Given the description of an element on the screen output the (x, y) to click on. 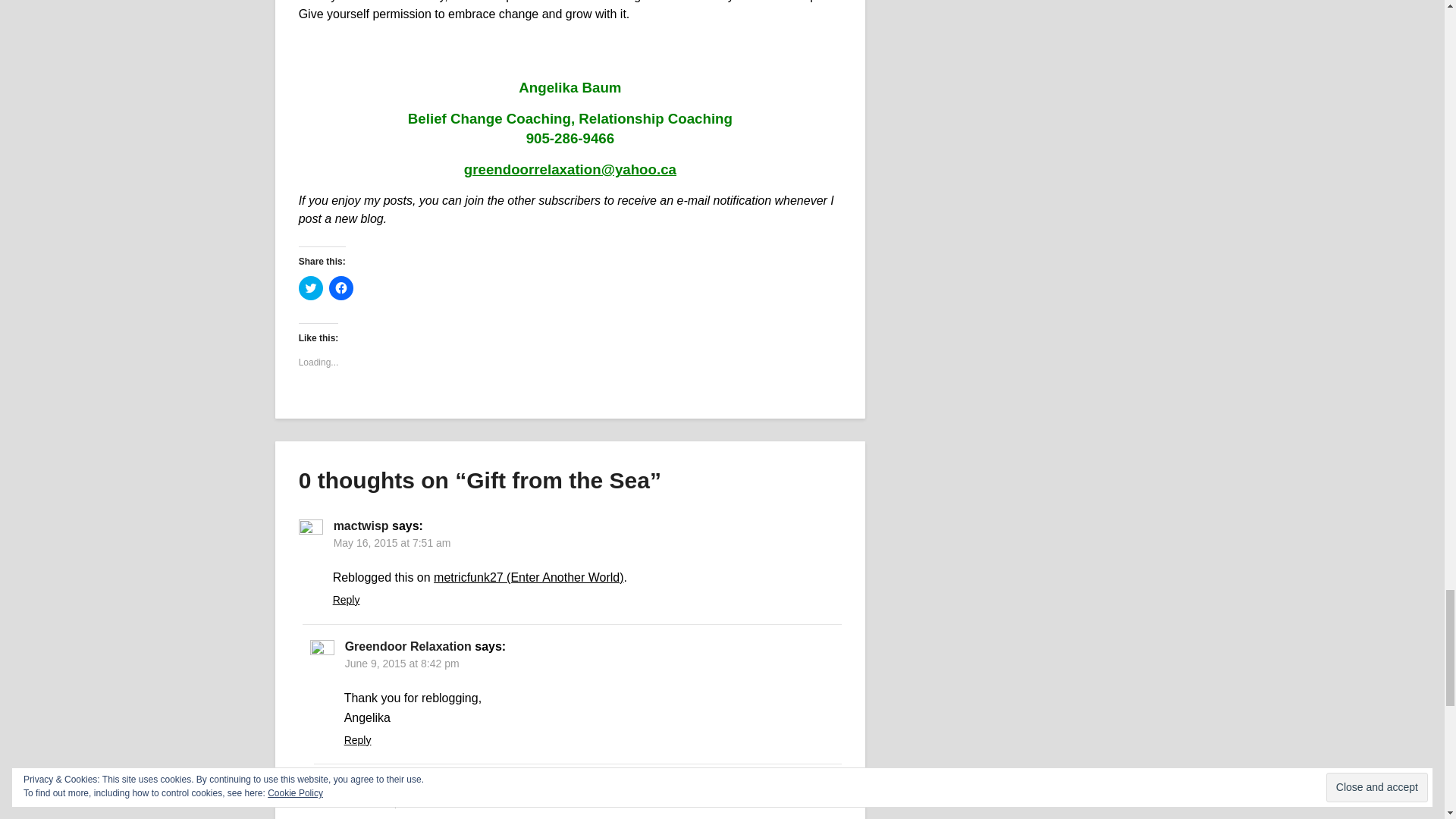
Click to share on Twitter (310, 288)
Click to share on Facebook (341, 288)
